Given the description of an element on the screen output the (x, y) to click on. 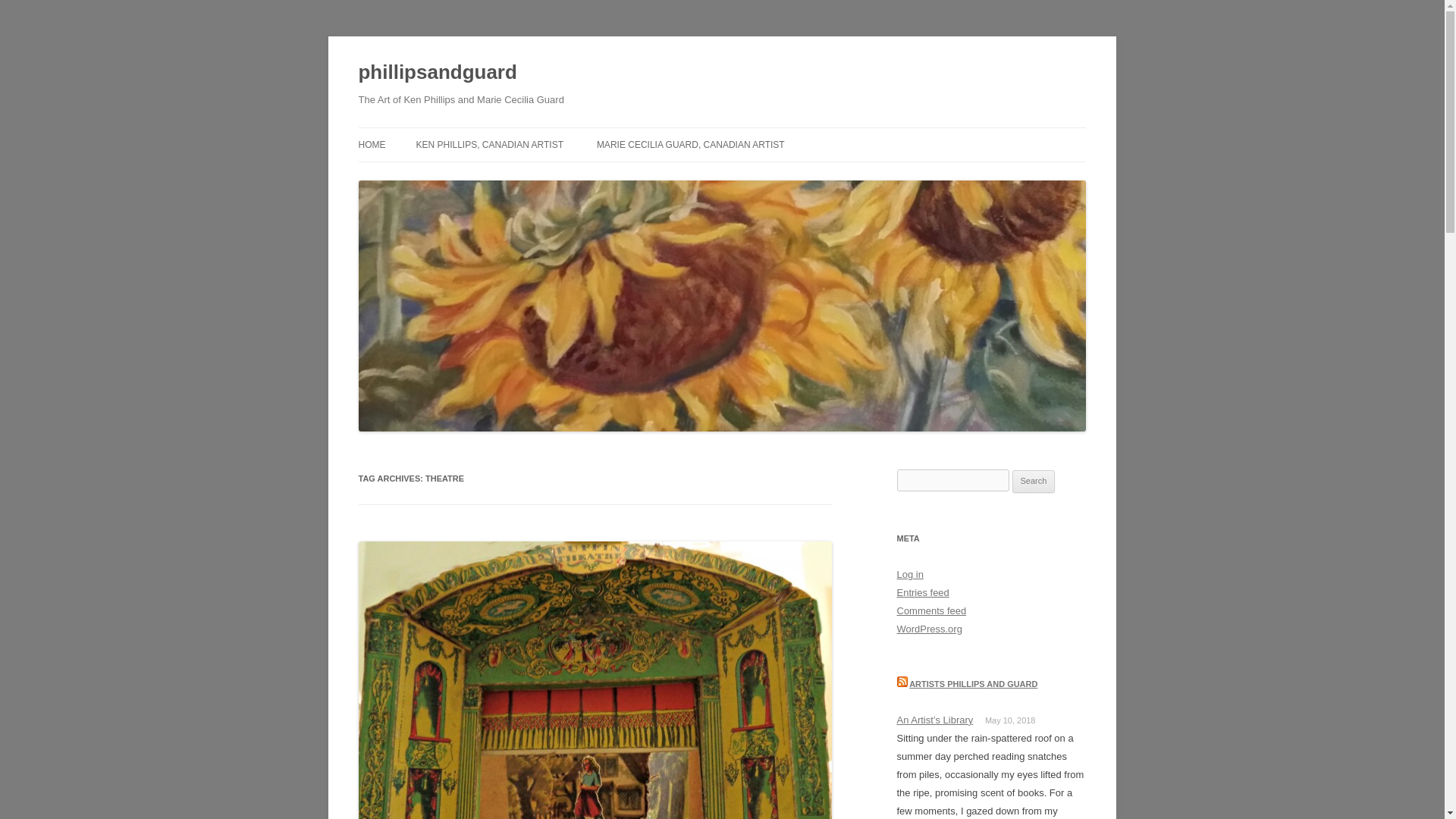
KEN PHILLIPS CANADIAN ARTIST DATES (490, 185)
Comments feed (931, 610)
Search (1033, 481)
ARTISTS PHILLIPS AND GUARD (972, 683)
phillipsandguard (437, 72)
WordPress.org (928, 628)
Entries feed (922, 592)
MARIE CECILIA GUARD, CANADIAN ARTIST (690, 144)
KEN PHILLIPS, CANADIAN ARTIST (488, 144)
